Given the description of an element on the screen output the (x, y) to click on. 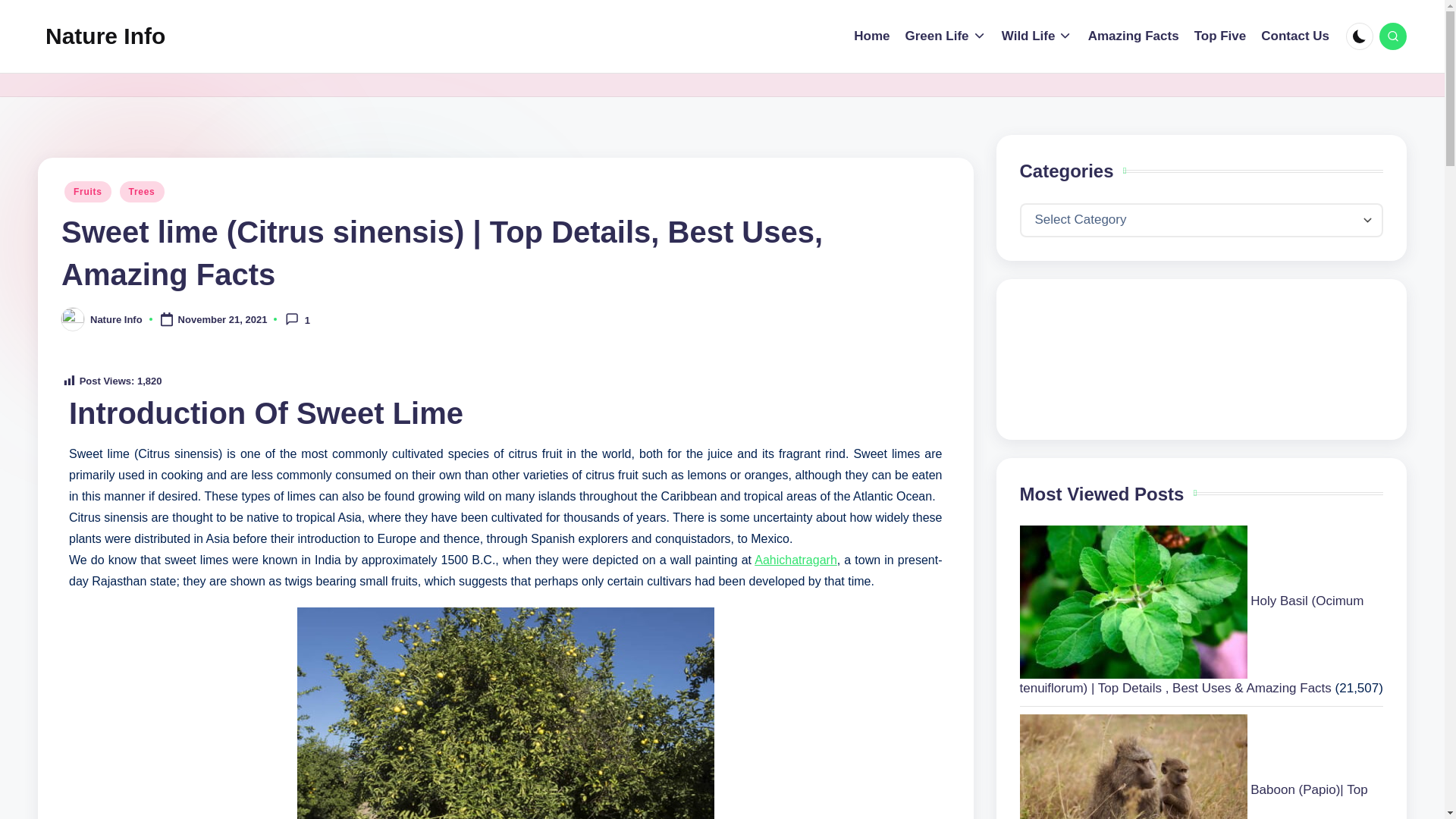
Green Life (944, 36)
Nature Info (105, 36)
Contact Us (1294, 36)
Nature Info (116, 319)
Wild Life (1037, 36)
View all posts by Nature Info (116, 319)
Fruits (88, 191)
Amazing Facts (1133, 36)
Advertisement (1201, 359)
Aahichatragarh (795, 559)
Top Five (1219, 36)
Trees (141, 191)
Home (871, 36)
1 (297, 319)
